Given the description of an element on the screen output the (x, y) to click on. 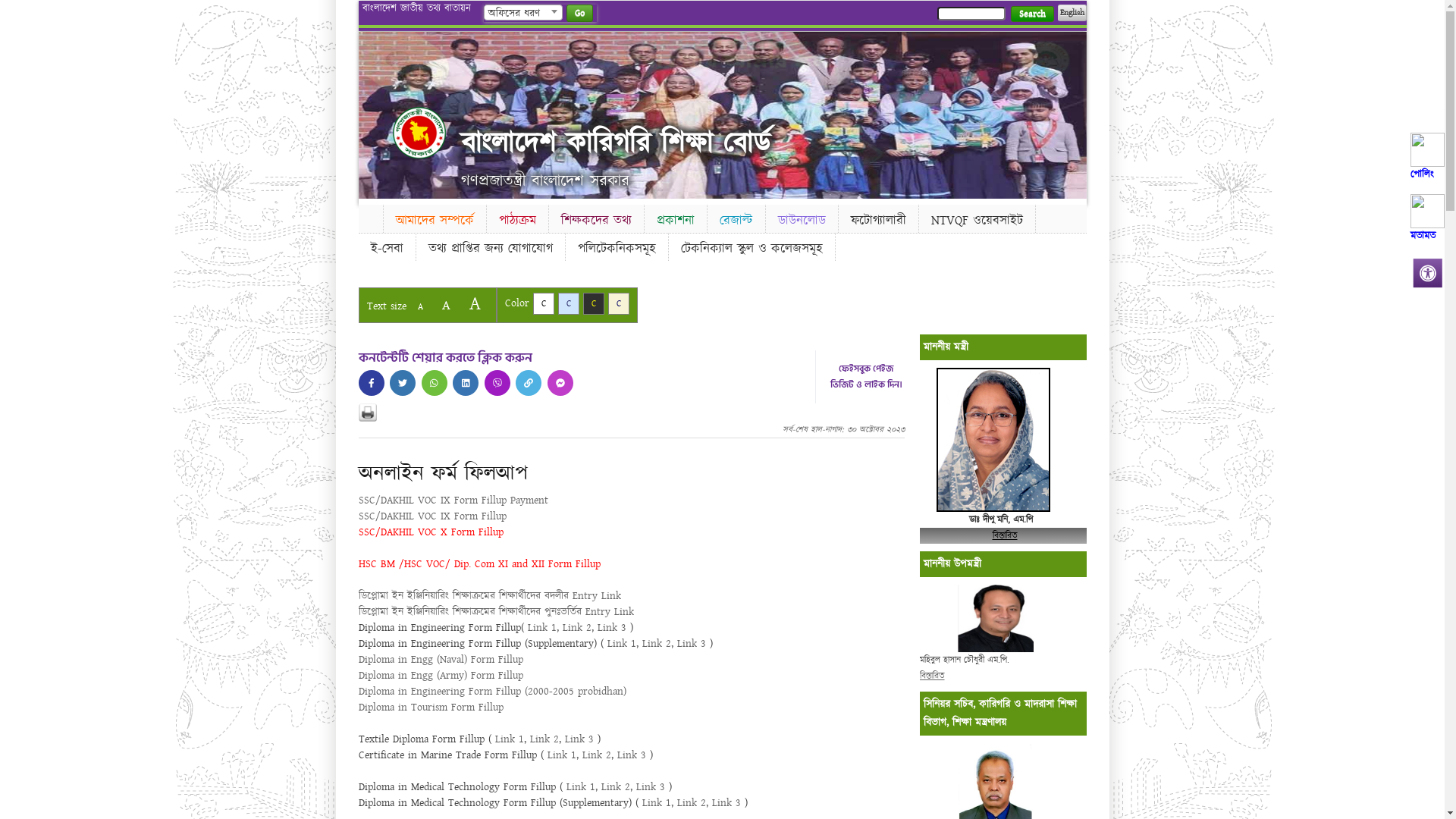
Link 1 Element type: text (561, 754)
SSC/DAKHIL VOC IX Form Fillup Payment Element type: text (452, 500)
Link 2 Element type: text (655, 643)
Diploma in Engg (Naval) Form Fillup Element type: text (439, 659)
SSC/DAKHIL VOC X Form Fillup Element type: text (429, 531)
Link 1 Element type: text (508, 738)
A Element type: text (419, 306)
Link 2 Element type: text (690, 802)
Go Element type: text (578, 12)
Link 2 Element type: text (614, 786)

    
     Element type: hover (465, 382)
Link 1 Element type: text (655, 802)
Previous Element type: text (371, 110)
English Element type: text (1071, 12)
Search Element type: text (1031, 13)
HSC BM /HSC VOC/ Dip. Com XI and XII Form Fillup Element type: text (478, 563)
Link 1 Element type: text (579, 786)
Link 3 Element type: text (690, 643)
SSC/DAKHIL VOC IX Form Fillup Element type: text (431, 516)
C Element type: text (618, 303)
Link 3 Element type: text (725, 802)

					
				 Element type: hover (418, 132)
C Element type: text (592, 303)
Link 3 Element type: text (631, 754)
Link 3 Element type: text (611, 627)
Diploma in Engg (Army) Form Fillup Element type: text (439, 675)
Link 3 Element type: text (649, 786)
Link 3 Element type: text (578, 738)
Link 2 Element type: text (596, 754)
Link 2 Element type: text (576, 627)
Link 2 Element type: text (543, 738)
Next Element type: text (1071, 110)
Link 1 Element type: text (541, 627)
Diploma in Engineering Form Fillup (2000-2005 probidhan) Element type: text (491, 691)
C Element type: text (568, 303)
Diploma in Tourism Form Fillup Element type: text (429, 707)
Link 1 Element type: text (620, 643)
C Element type: text (542, 303)
A Element type: text (474, 303)
A Element type: text (445, 305)
